Given the description of an element on the screen output the (x, y) to click on. 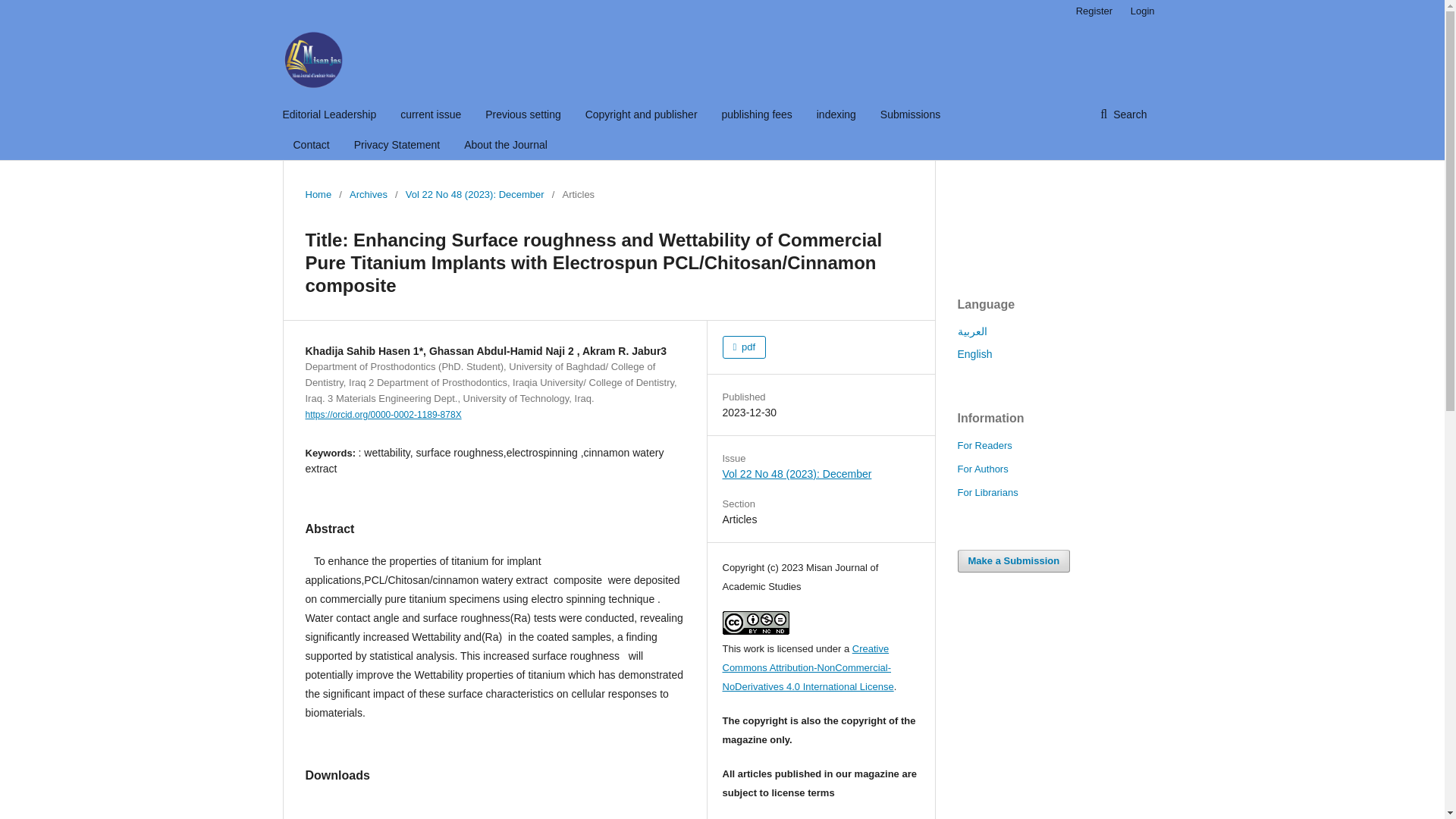
About the Journal (505, 144)
pdf (743, 346)
Privacy Statement (397, 144)
Home (317, 194)
Search (1122, 114)
Register (1093, 11)
Contact (310, 144)
Archives (368, 194)
Editorial Leadership (328, 114)
Previous setting (522, 114)
current issue (430, 114)
English (973, 354)
indexing (836, 114)
Submissions (910, 114)
